Given the description of an element on the screen output the (x, y) to click on. 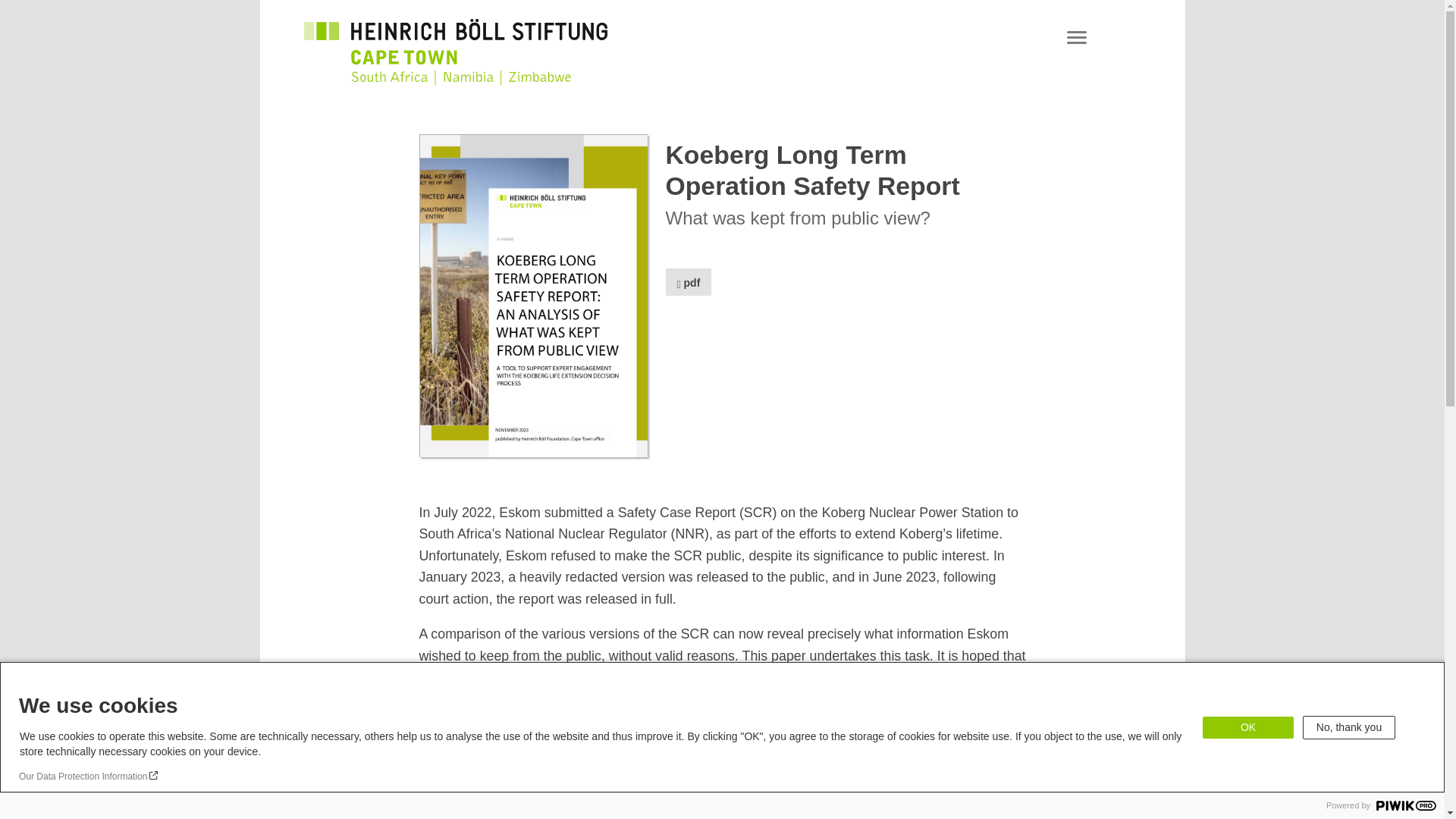
Home (454, 40)
pdf (688, 281)
Home (454, 73)
